Given the description of an element on the screen output the (x, y) to click on. 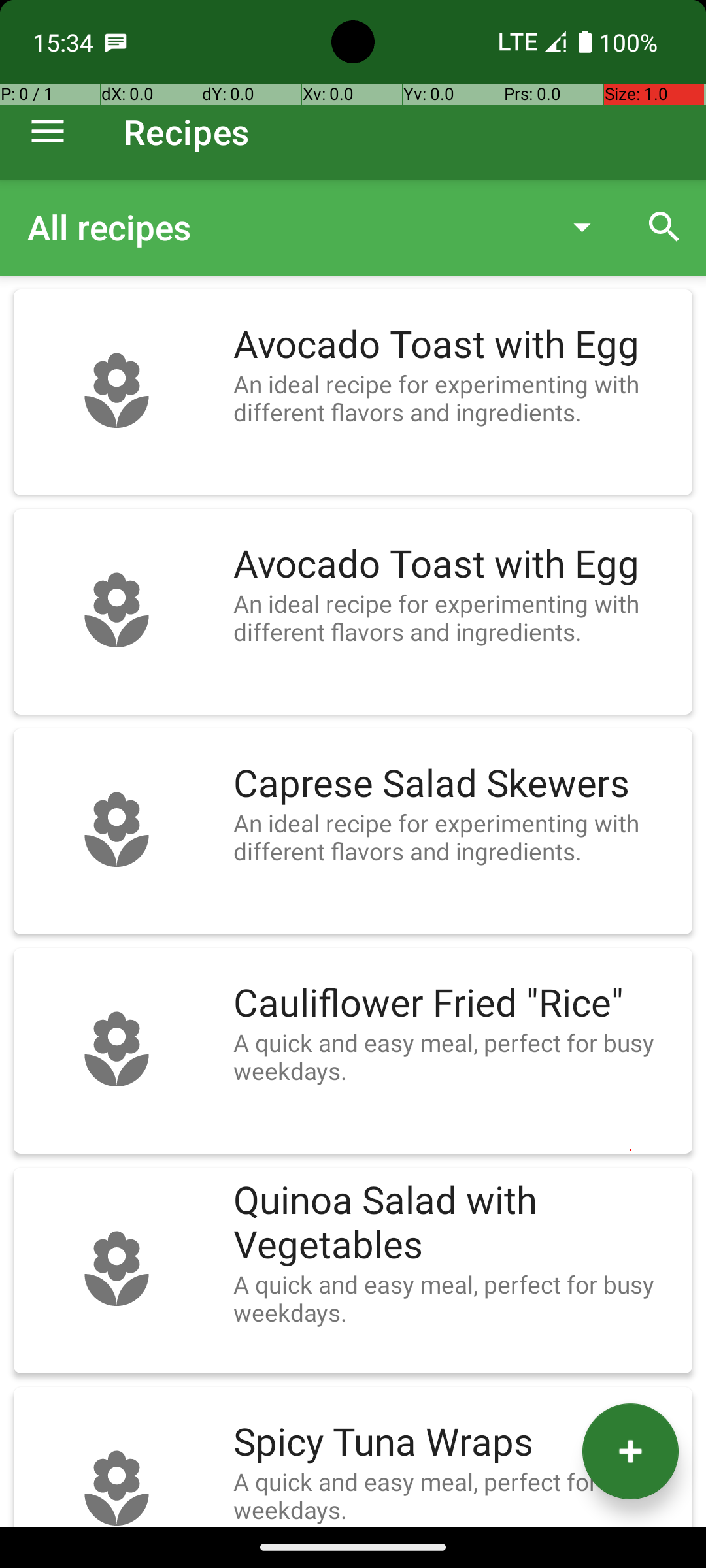
Quinoa Salad with Vegetables Element type: android.widget.TextView (455, 1222)
Spicy Tuna Wraps Element type: android.widget.TextView (455, 1442)
